Given the description of an element on the screen output the (x, y) to click on. 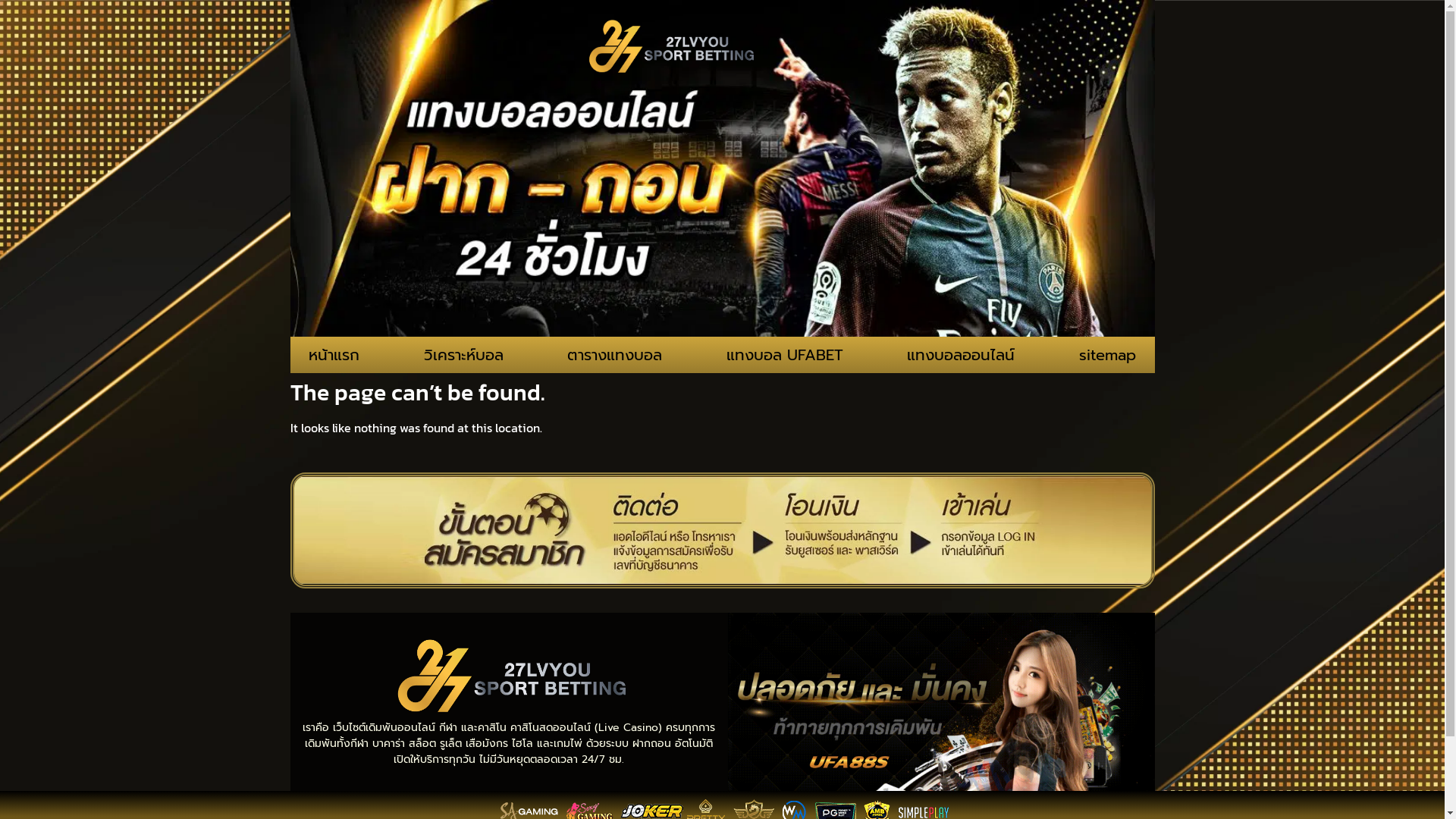
sitemap Element type: text (1107, 354)
